Given the description of an element on the screen output the (x, y) to click on. 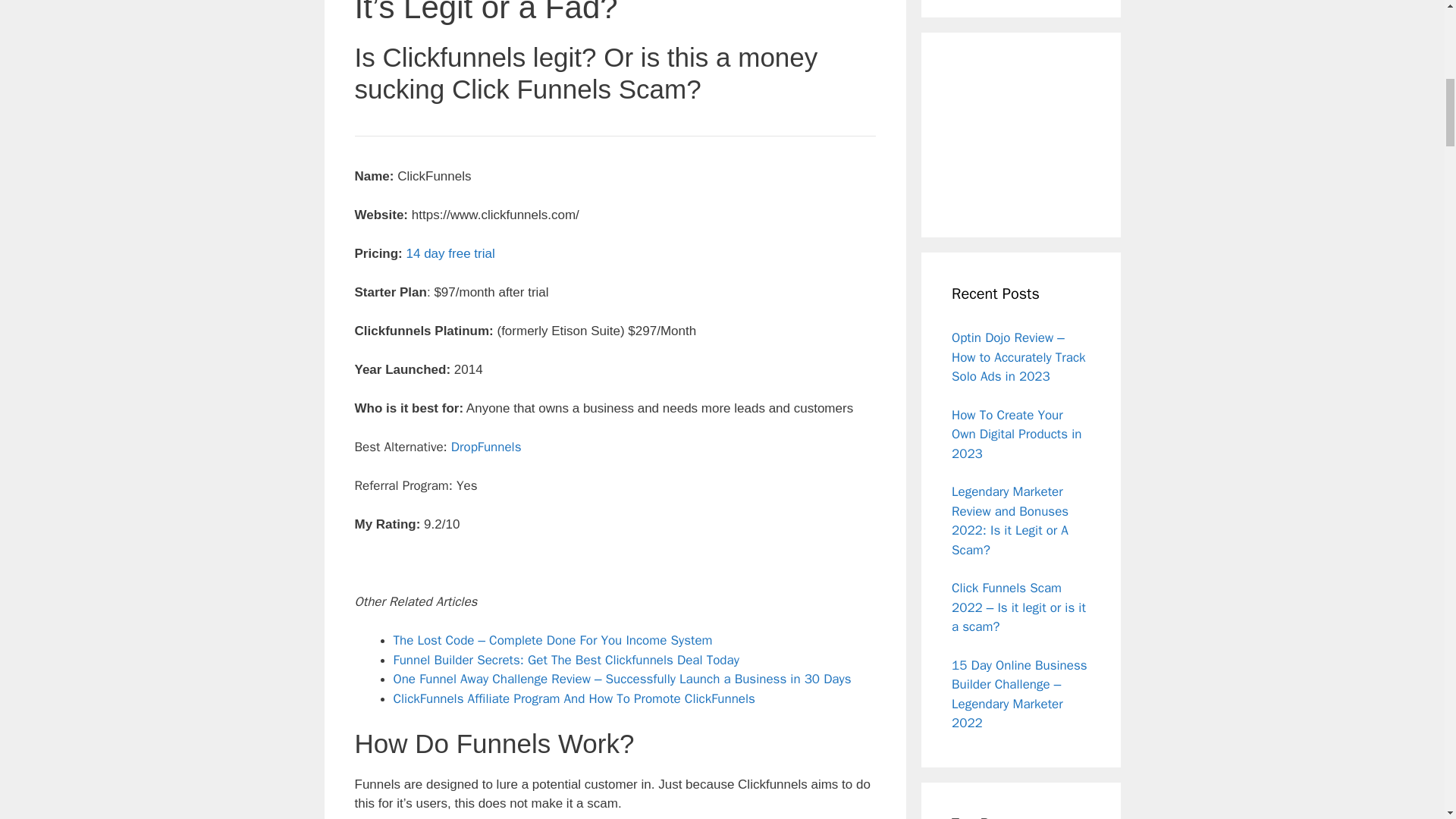
Funnel Builder Secrets: Get The Best Clickfunnels Deal Today (565, 659)
DropFunnels (486, 446)
14 day free trial (450, 253)
